Given the description of an element on the screen output the (x, y) to click on. 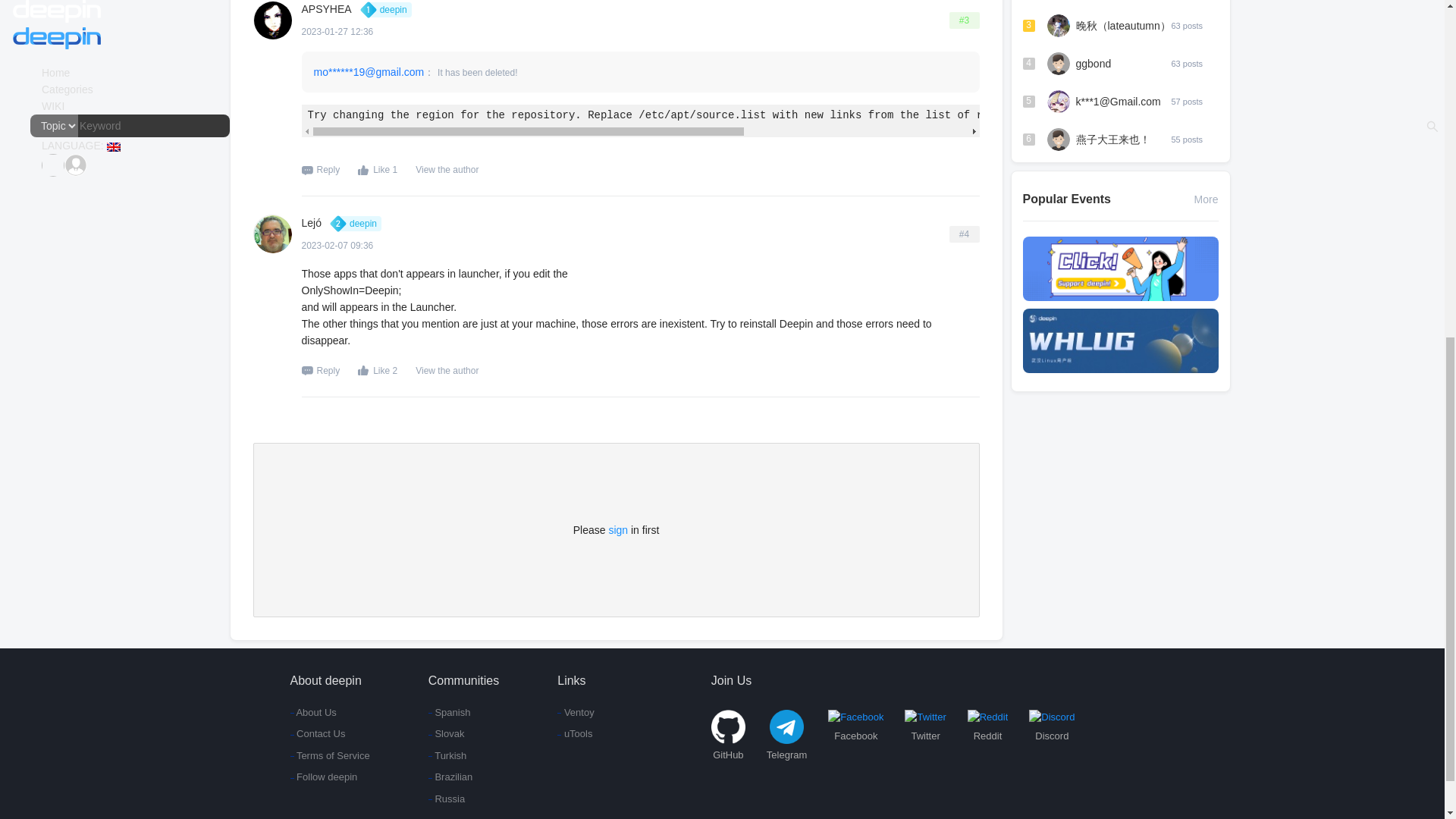
User Level (390, 9)
uTools (575, 734)
Copy Link (964, 234)
2023-01-27T04:36:07.764Z (356, 32)
sign (617, 530)
Spanish (463, 712)
Russia (463, 798)
Brazilian (463, 776)
Follow deepin (329, 776)
2023-02-07T01:36:59.079Z (341, 246)
